Given the description of an element on the screen output the (x, y) to click on. 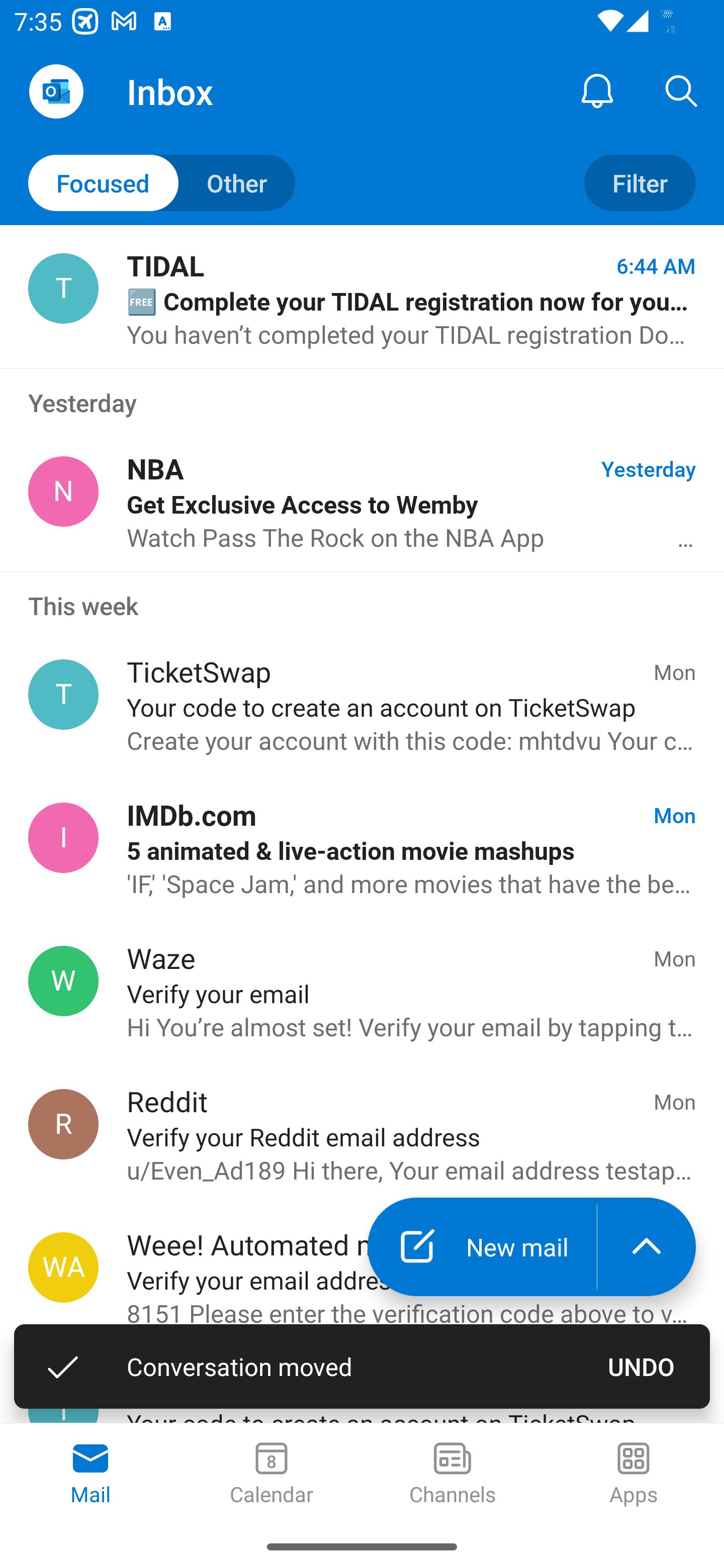
Notification Center (597, 90)
Search, ,  (681, 90)
Open Navigation Drawer (55, 91)
Toggle to other mails (161, 183)
Filter (639, 183)
TIDAL, hello@email.tidal.com (63, 288)
NBA, NBA@email.nba.com (63, 491)
TicketSwap, info@ticketswap.com (63, 694)
IMDb.com, do-not-reply@imdb.com (63, 837)
Waze, noreply@waze.com (63, 980)
Reddit, noreply@reddit.com (63, 1123)
New mail (481, 1246)
launch the extended action menu (646, 1246)
UNDO (641, 1366)
Calendar (271, 1474)
Channels (452, 1474)
Apps (633, 1474)
